Given the description of an element on the screen output the (x, y) to click on. 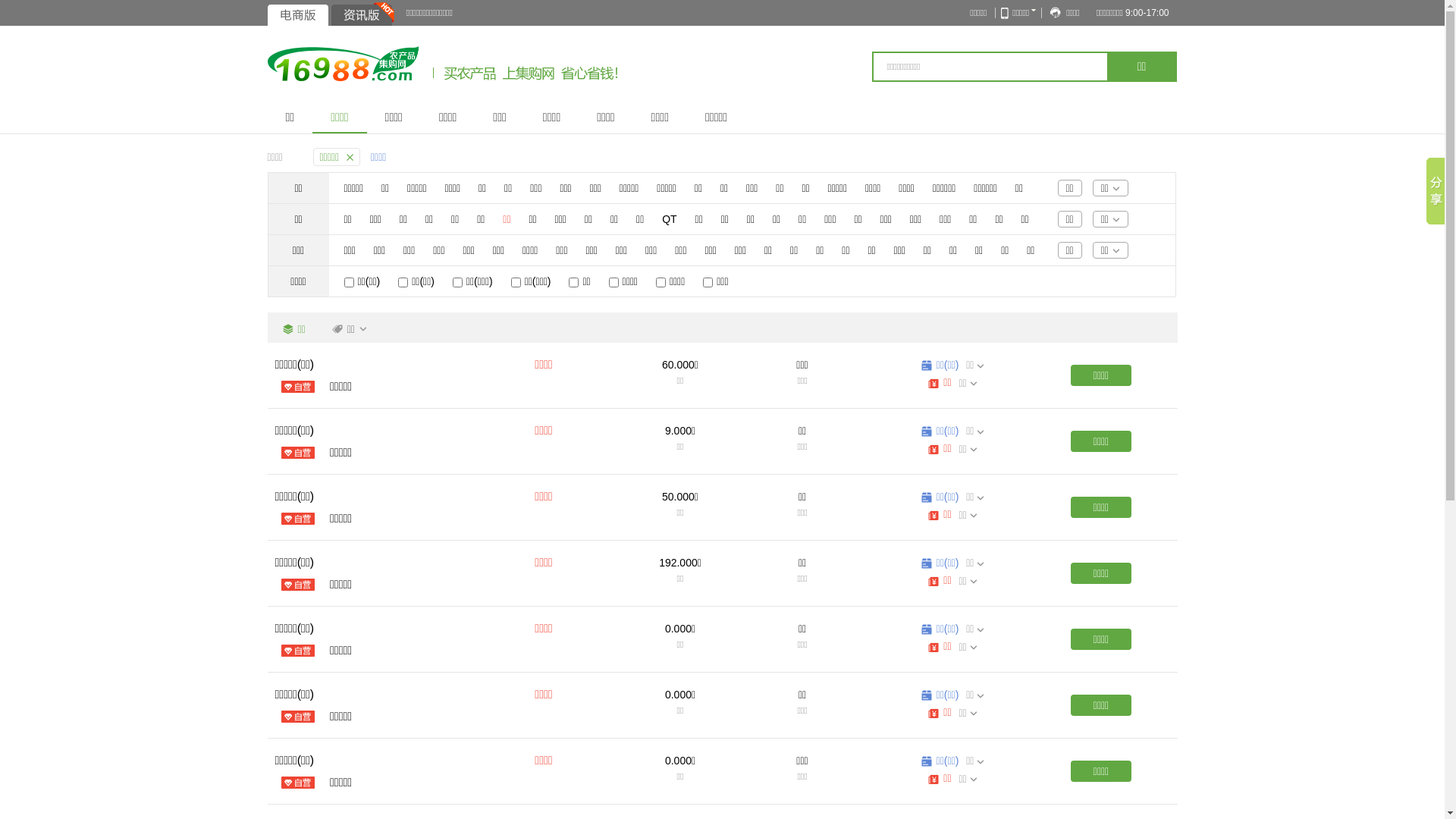
QT Element type: text (669, 218)
